Given the description of an element on the screen output the (x, y) to click on. 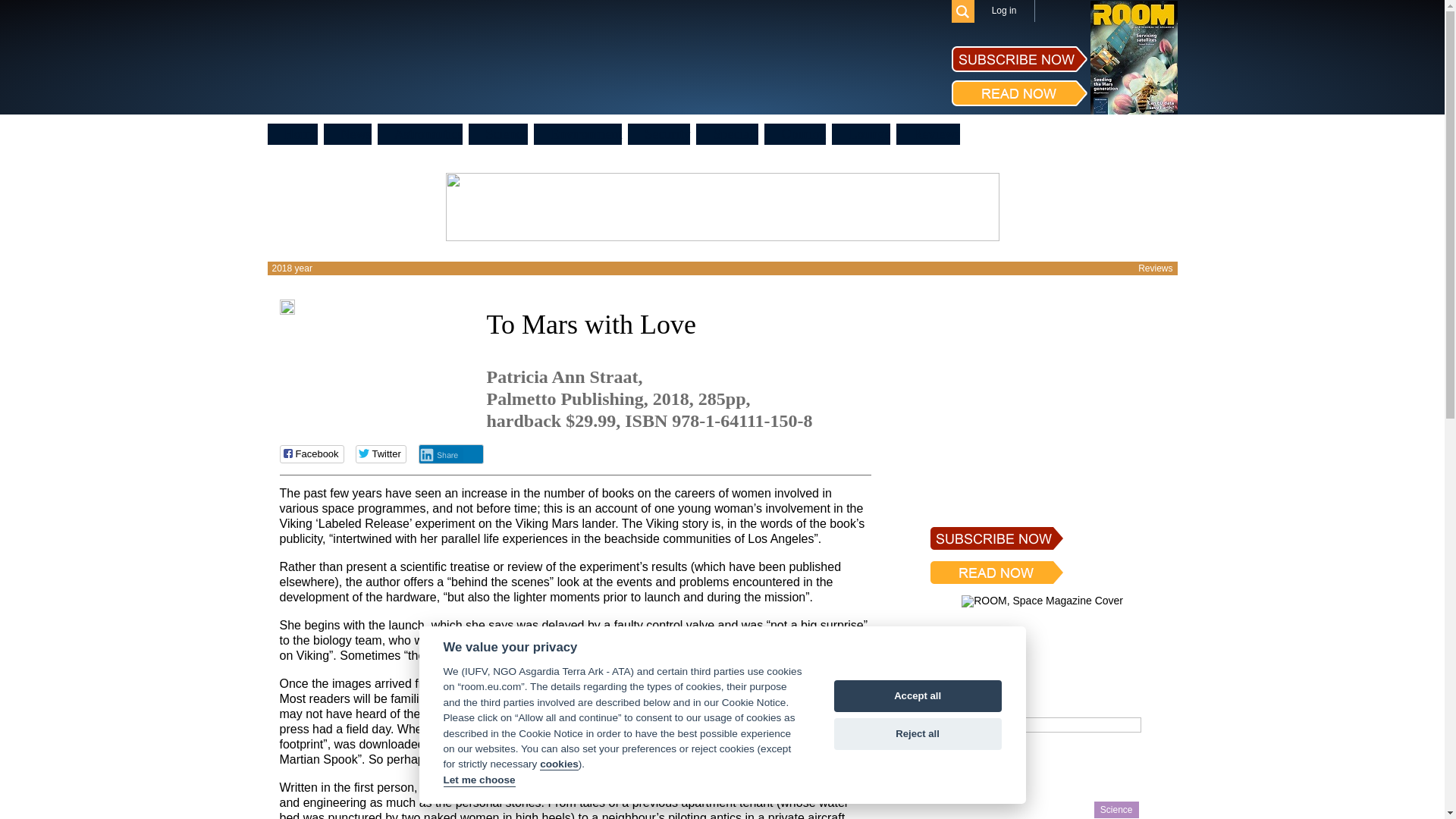
Share link on Twitter (380, 454)
Share link on Facebook (311, 454)
